Given the description of an element on the screen output the (x, y) to click on. 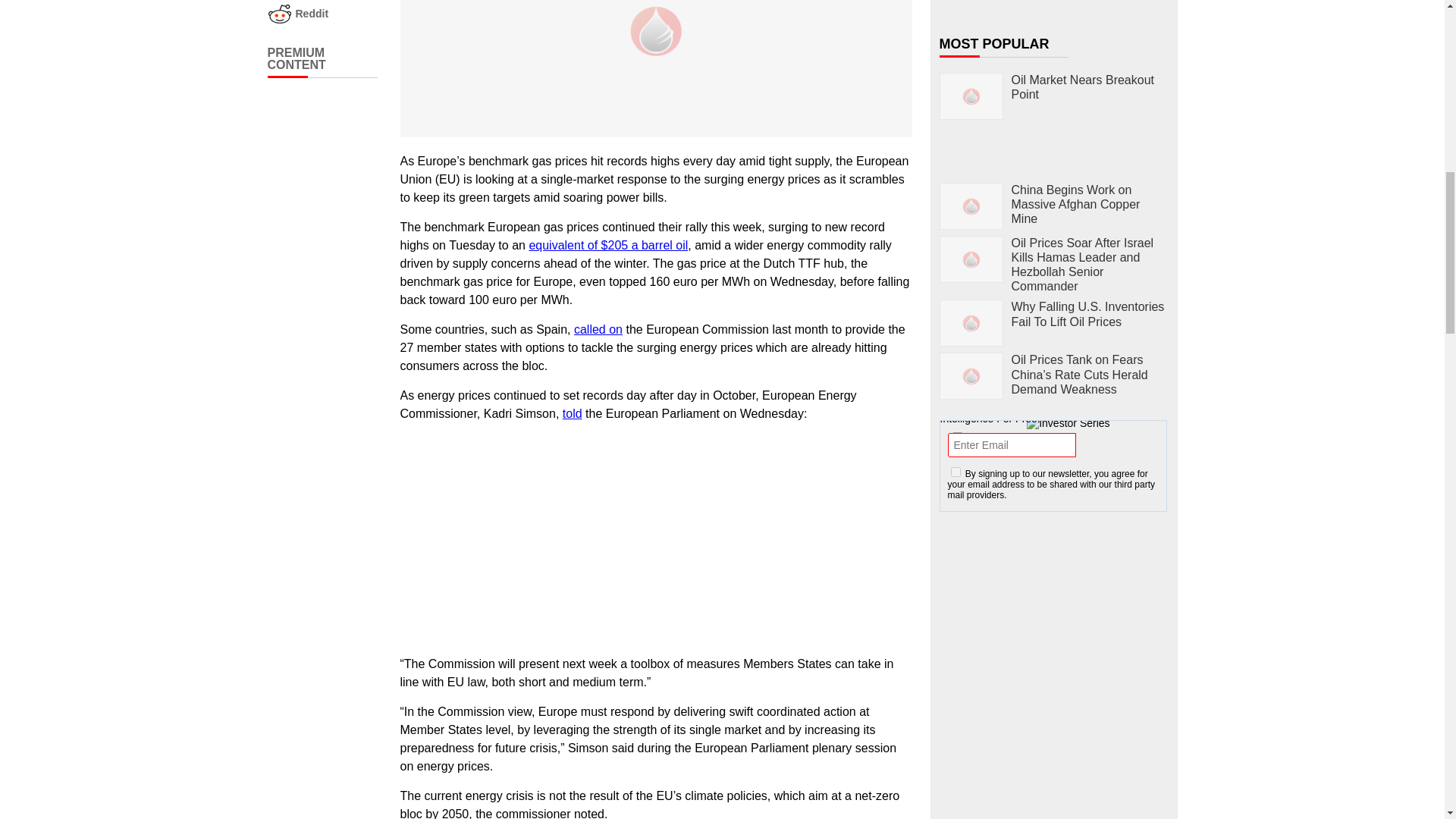
1 (955, 471)
